Given the description of an element on the screen output the (x, y) to click on. 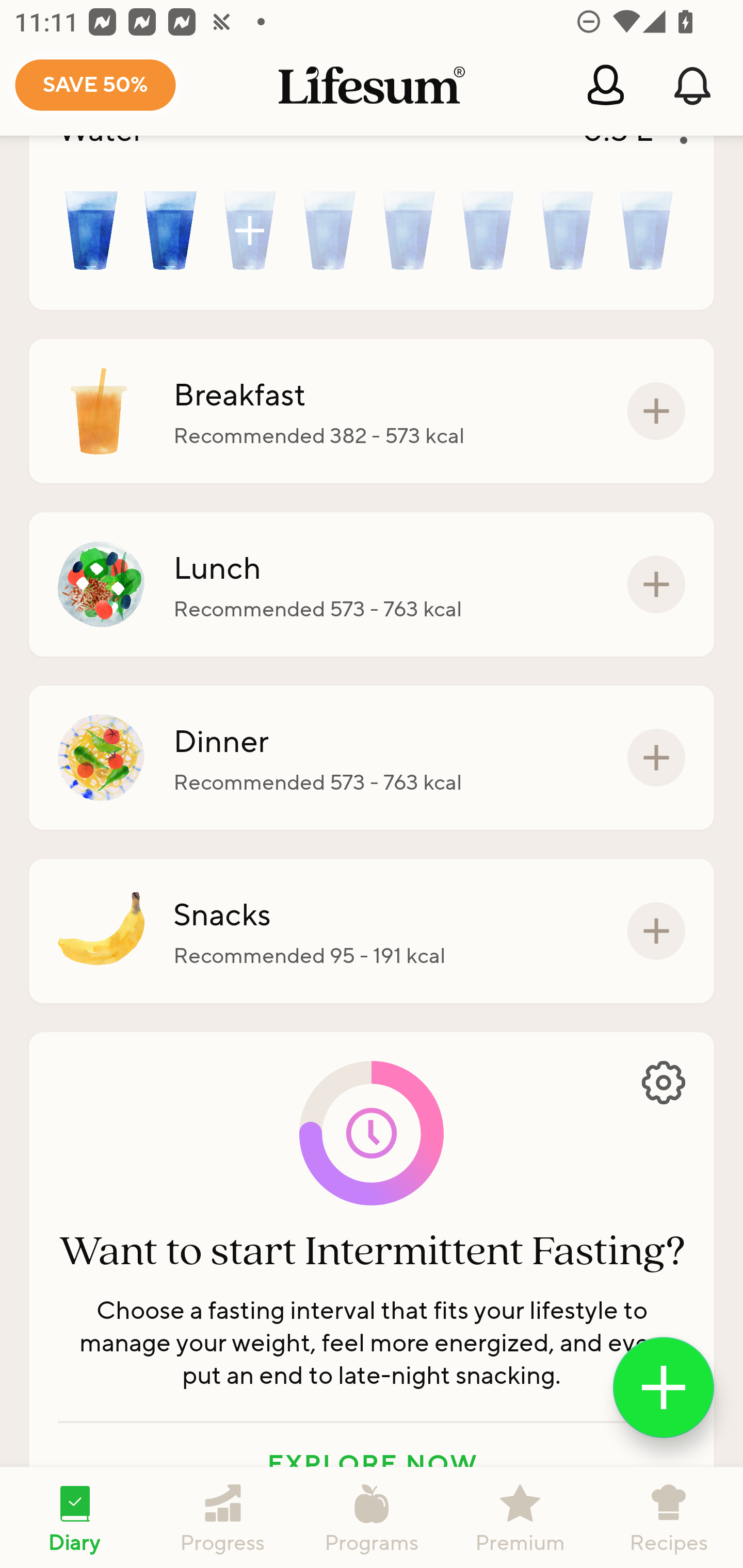
Breakfast Recommended 382 - 573 kcal (371, 410)
Lunch Recommended 573 - 763 kcal (371, 584)
Dinner Recommended 573 - 763 kcal (371, 757)
Snacks Recommended 95 - 191 kcal (371, 931)
Progress (222, 1517)
Programs (371, 1517)
Premium (519, 1517)
Recipes (668, 1517)
